Given the description of an element on the screen output the (x, y) to click on. 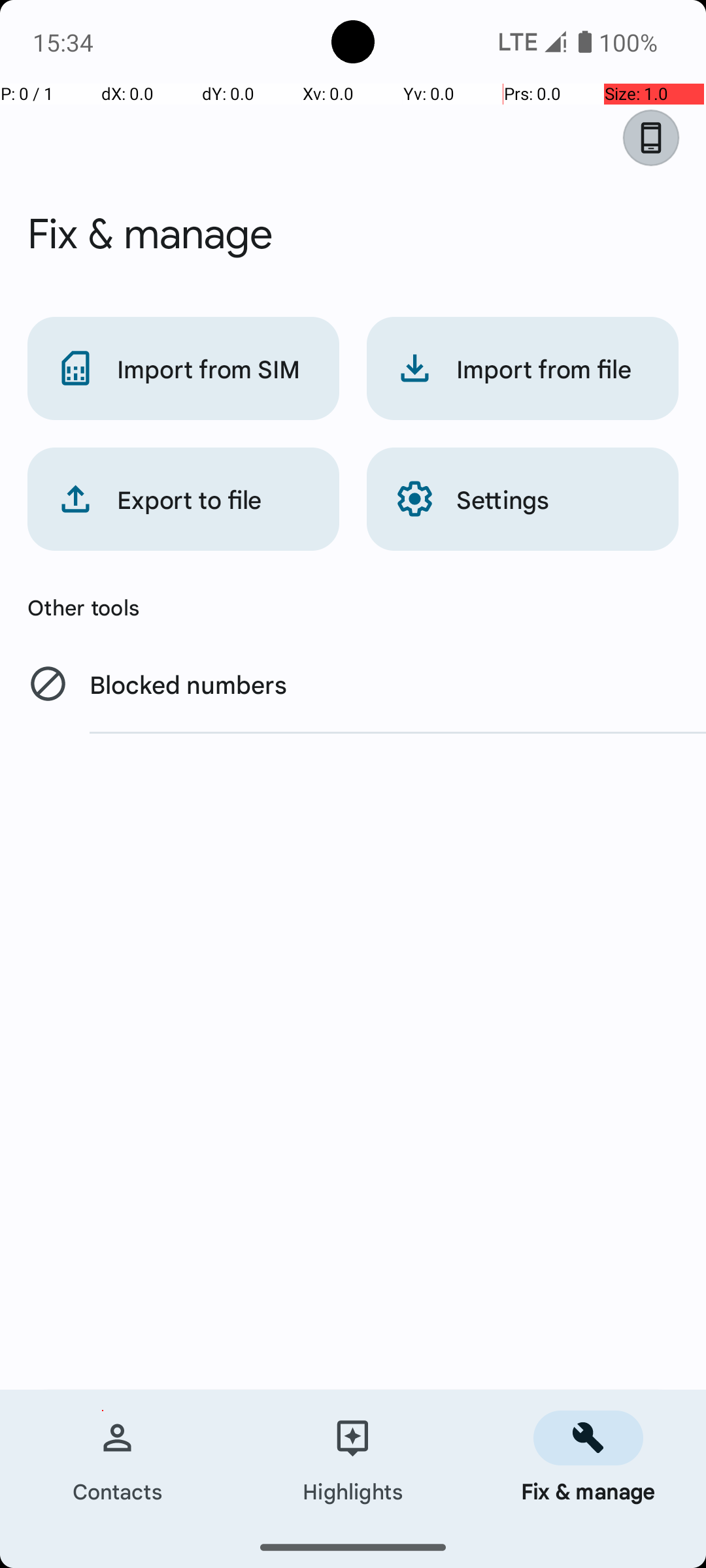
Other tools Element type: android.widget.TextView (353, 606)
Import from SIM Element type: android.widget.TextView (183, 368)
Import from file Element type: android.widget.TextView (522, 368)
Export to file Element type: android.widget.TextView (183, 498)
